Given the description of an element on the screen output the (x, y) to click on. 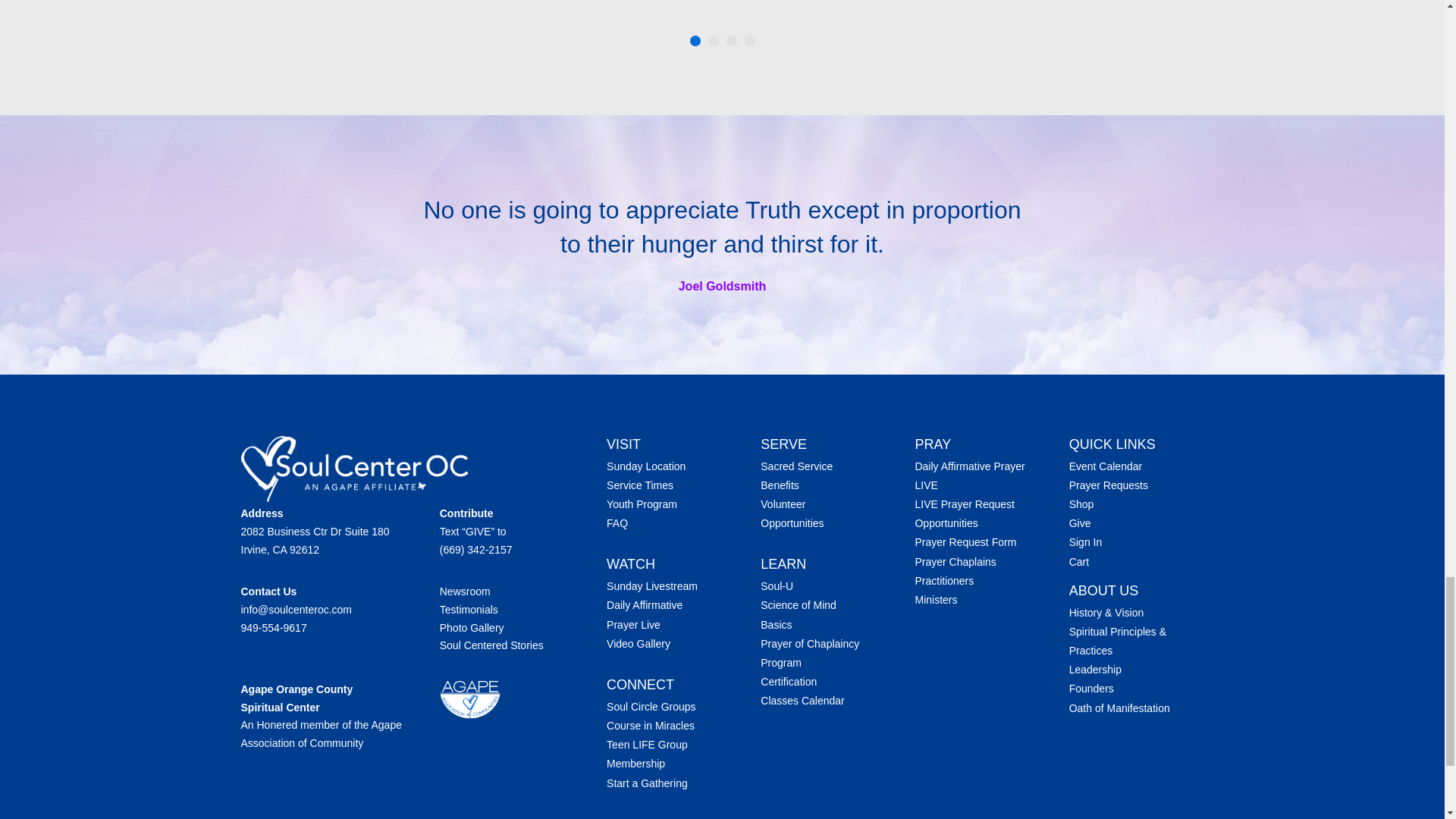
2 (713, 40)
Group 125 (354, 468)
3 (731, 40)
4 (749, 40)
1 (695, 40)
